Given the description of an element on the screen output the (x, y) to click on. 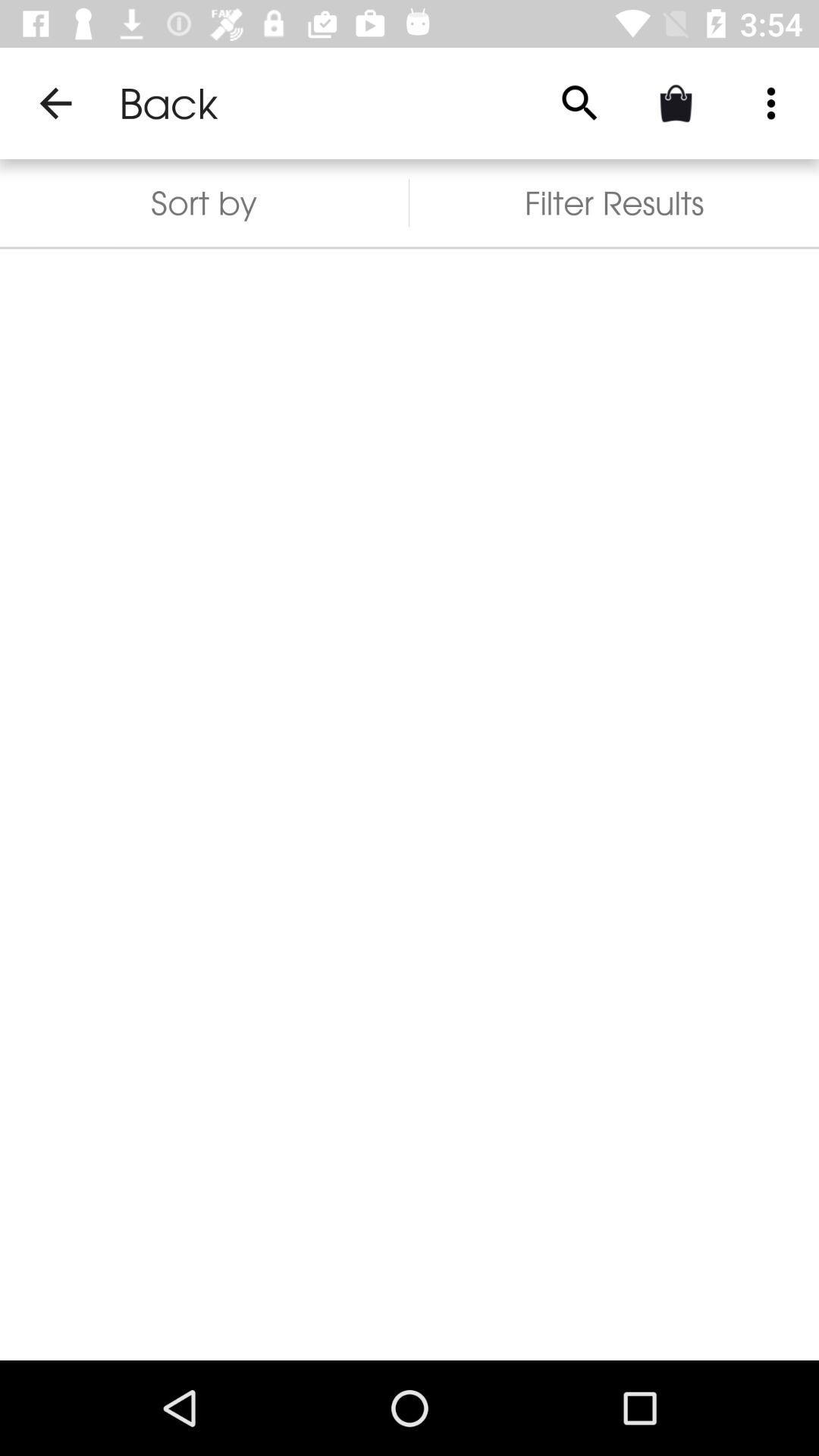
choose the item next to back app (55, 103)
